Given the description of an element on the screen output the (x, y) to click on. 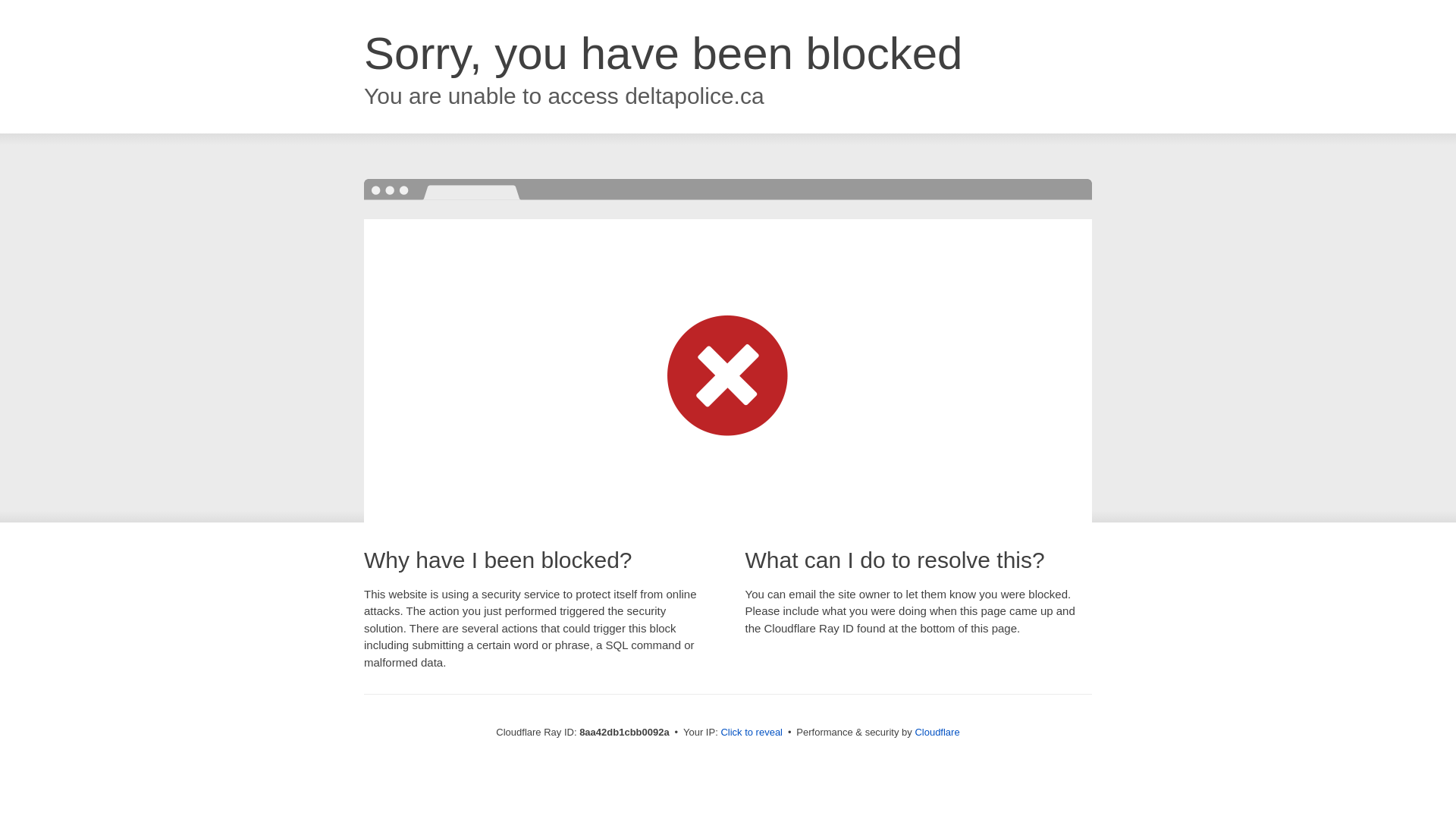
Cloudflare (936, 731)
Click to reveal (751, 732)
